Given the description of an element on the screen output the (x, y) to click on. 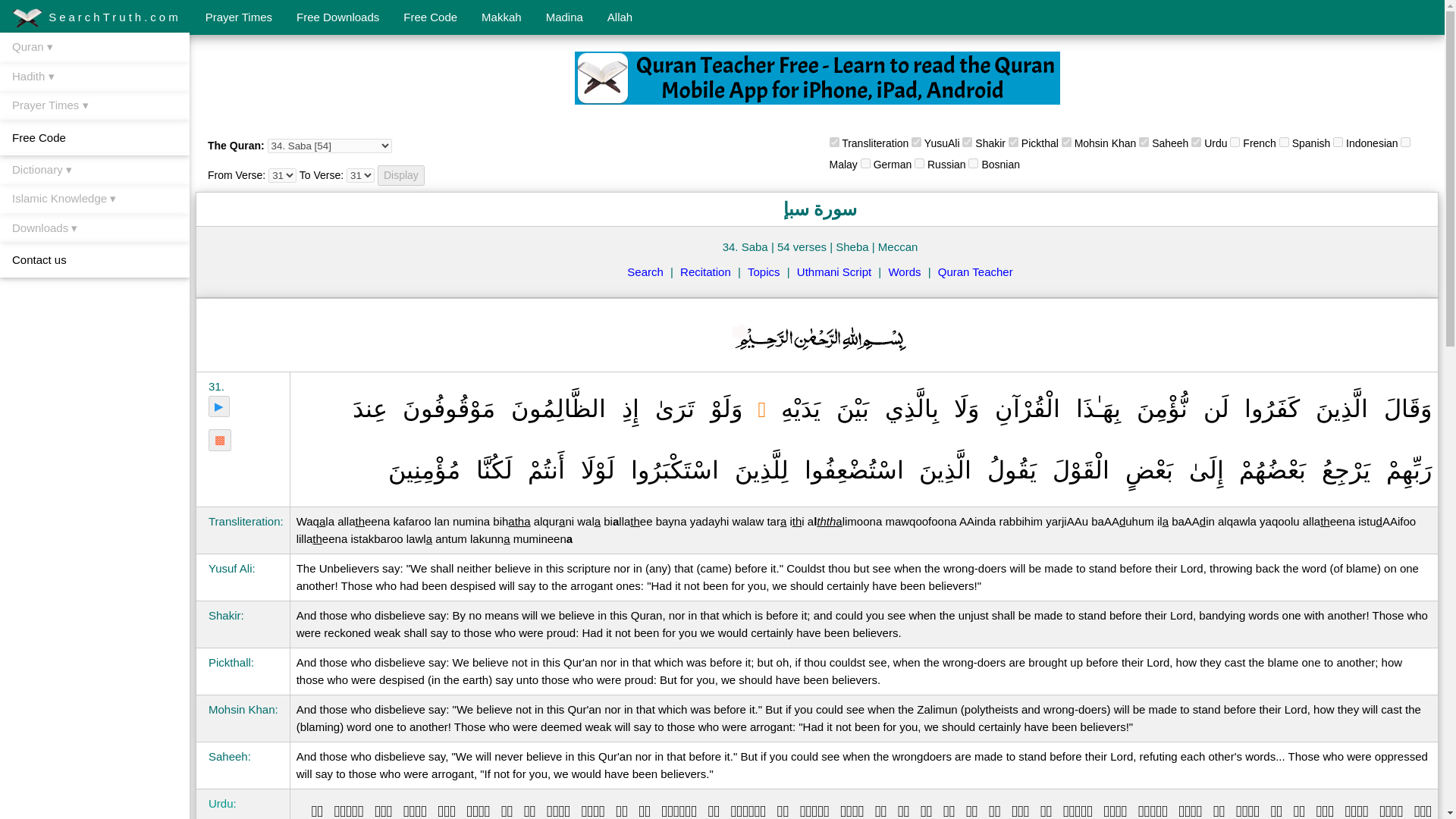
Free Code (429, 17)
Free Downloads (337, 17)
Live Madina (564, 17)
1 (916, 142)
1 (919, 163)
1 (1143, 142)
1 (967, 142)
Makkah (501, 17)
1 (834, 142)
Free Code (429, 17)
